Given the description of an element on the screen output the (x, y) to click on. 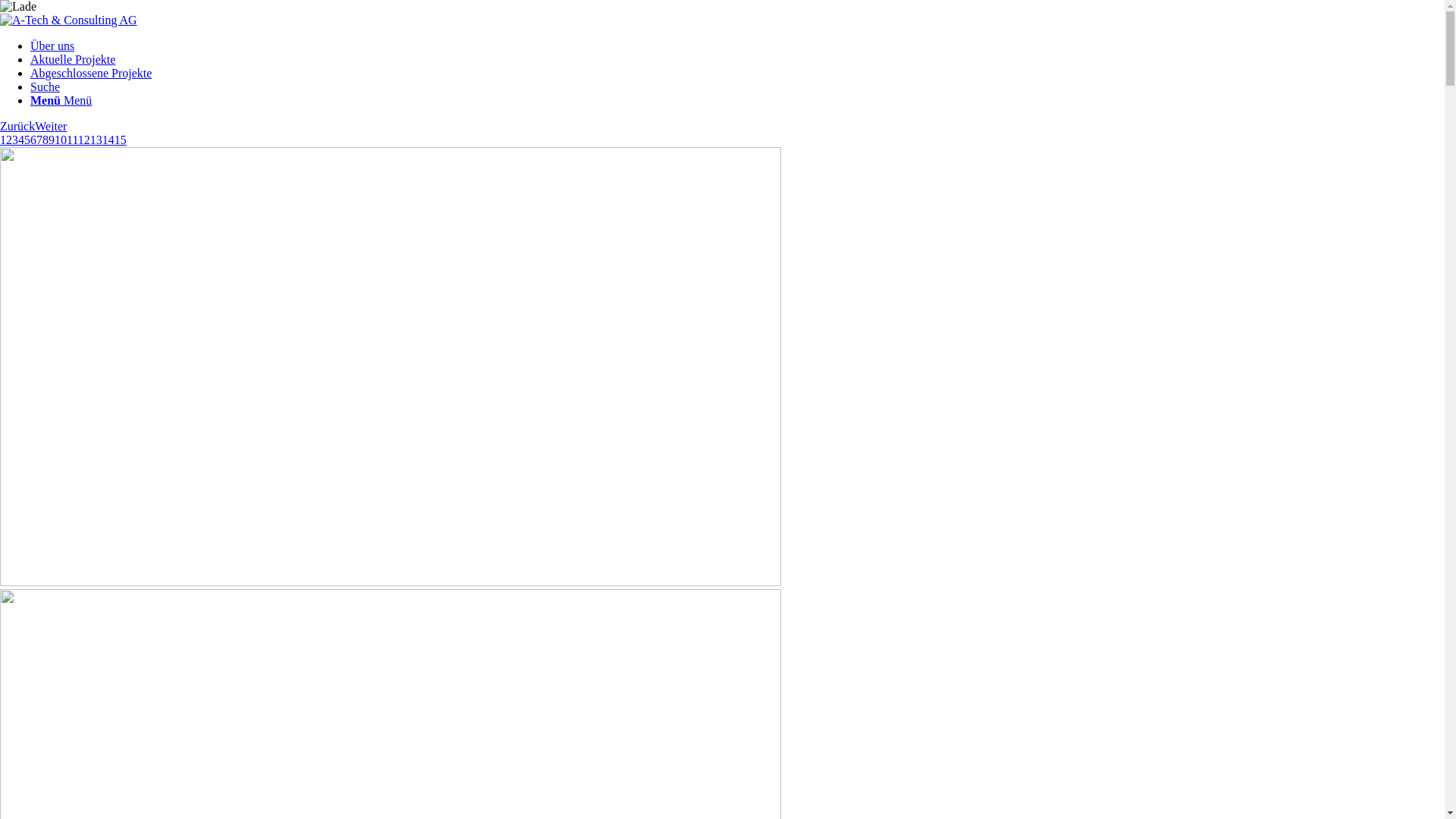
15 Element type: text (120, 139)
3D__Scene 03B Element type: hover (390, 366)
Abgeschlossene Projekte Element type: text (90, 72)
4 Element type: text (21, 139)
10 Element type: text (60, 139)
A-Tech Logo Element type: hover (68, 19)
8 Element type: text (45, 139)
14 Element type: text (108, 139)
A-Tech Logo Element type: hover (68, 20)
7 Element type: text (39, 139)
11 Element type: text (72, 139)
2 Element type: text (9, 139)
6 Element type: text (33, 139)
1 Element type: text (3, 139)
12 Element type: text (84, 139)
13 Element type: text (96, 139)
Aktuelle Projekte Element type: text (72, 59)
5 Element type: text (27, 139)
9 Element type: text (51, 139)
3 Element type: text (15, 139)
Lade Element type: hover (18, 6)
Weiter Element type: text (50, 125)
Suche Element type: text (44, 86)
